Given the description of an element on the screen output the (x, y) to click on. 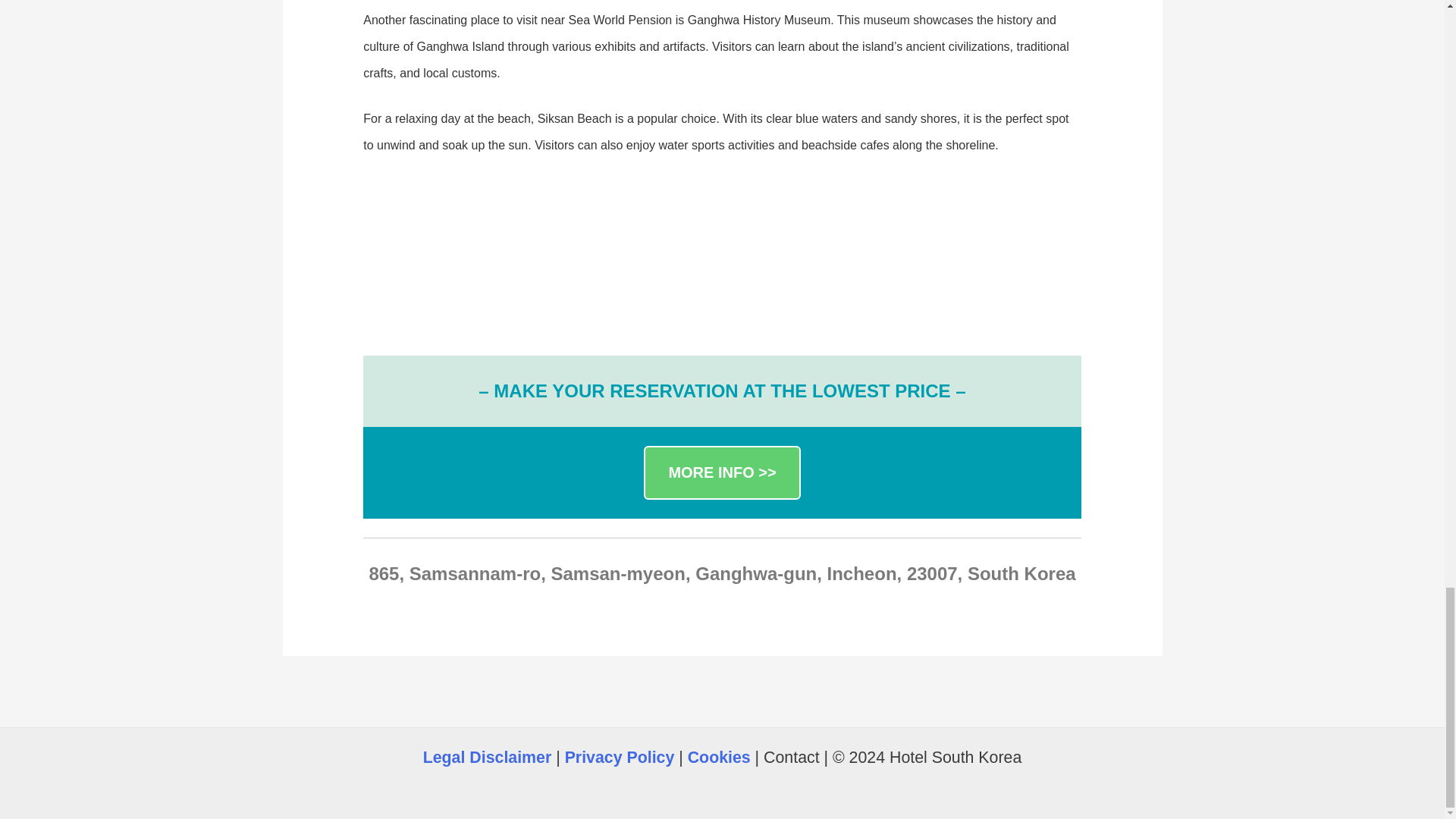
Sea World Pension in Seokmo Island (483, 252)
Sea World Pension in Seokmo Island (718, 252)
Sea World Pension in Seokmo Island (954, 252)
Privacy Policy (619, 757)
Legal Disclaimer (487, 757)
Cookies (719, 757)
